Given the description of an element on the screen output the (x, y) to click on. 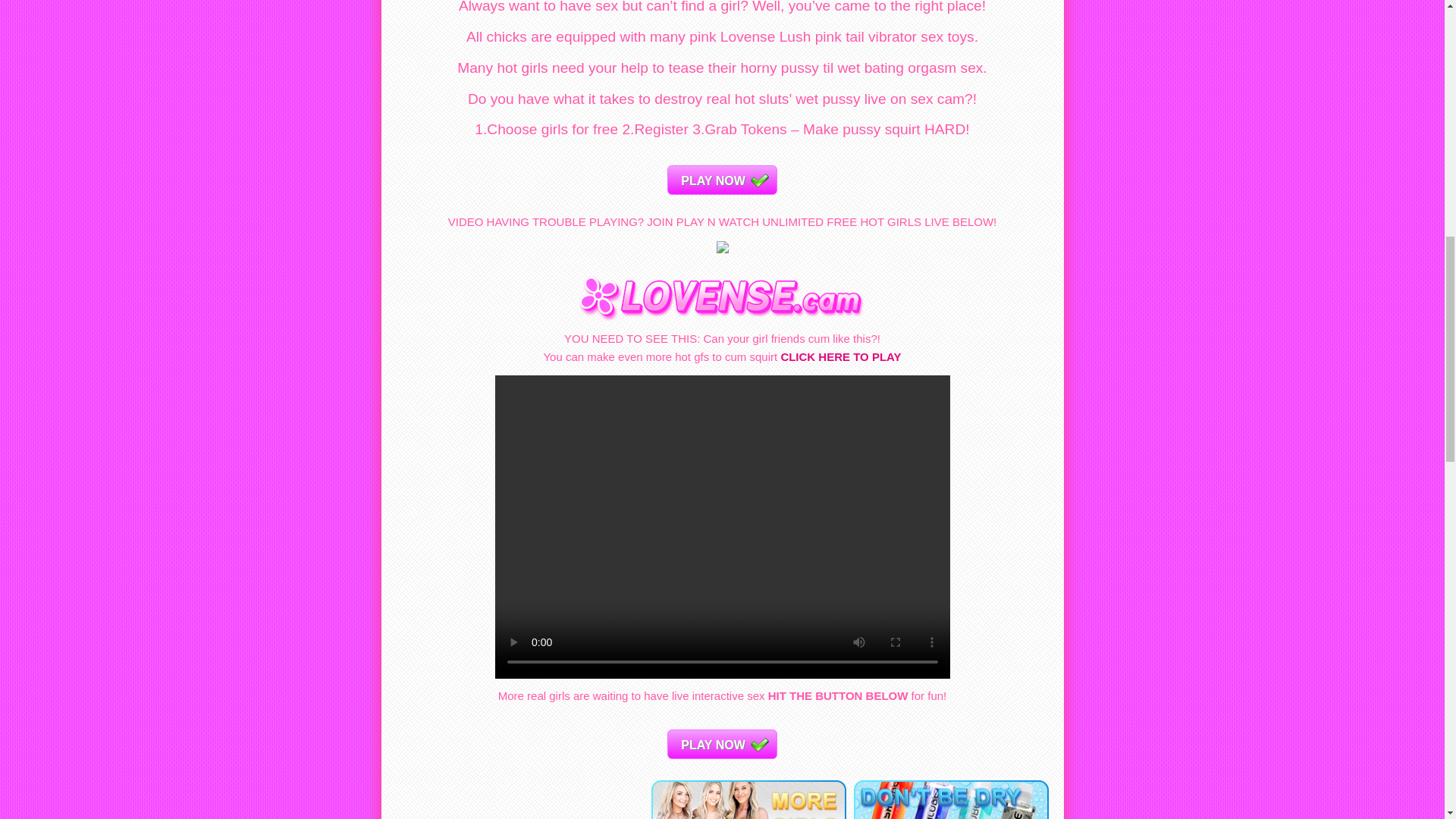
PLAY NOW (721, 744)
PLAY NOW (721, 179)
CLICK HERE TO PLAY (840, 356)
